Given the description of an element on the screen output the (x, y) to click on. 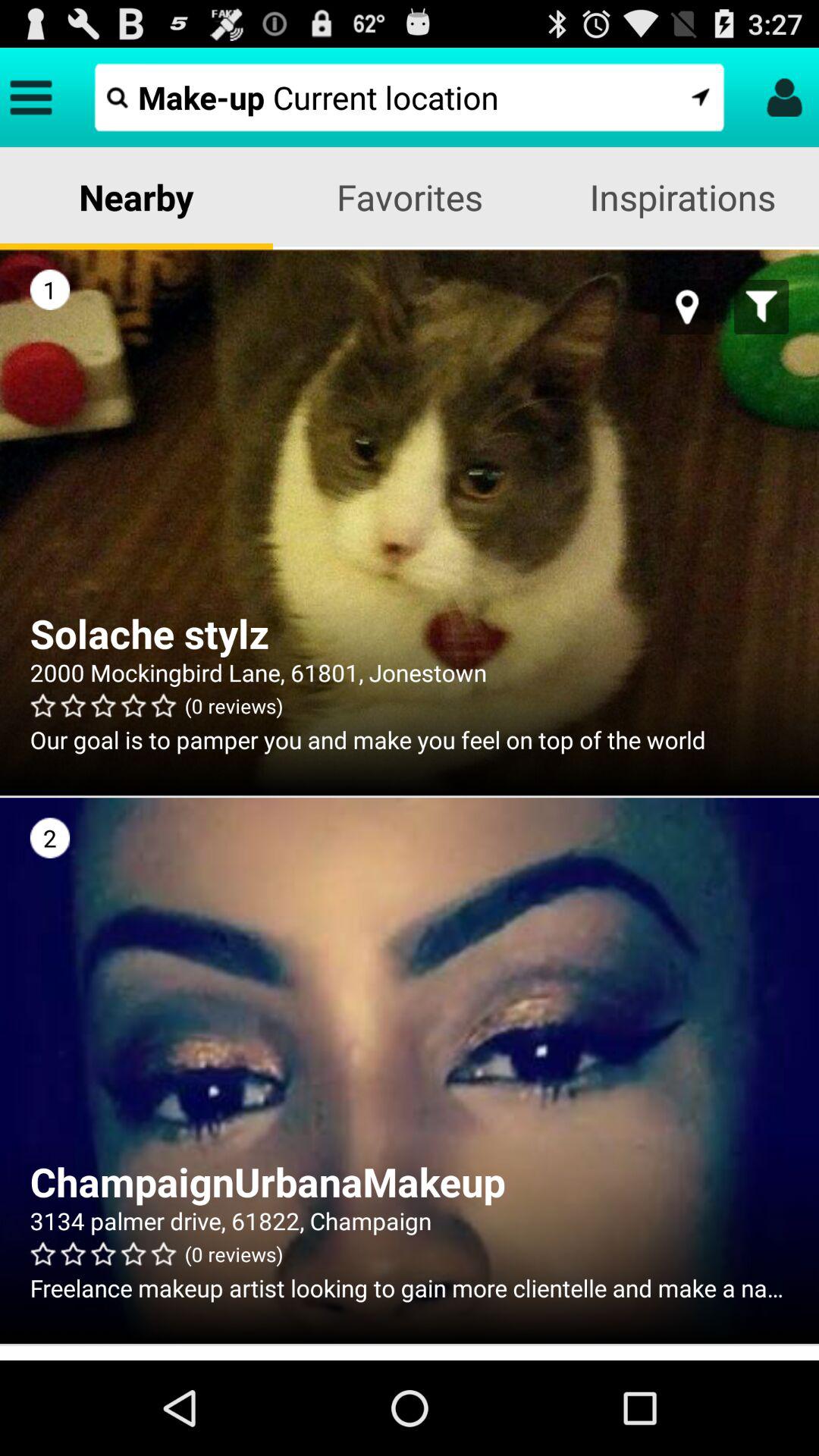
click on the location icon which is beside filter icon (687, 306)
click inspirations (682, 197)
